Given the description of an element on the screen output the (x, y) to click on. 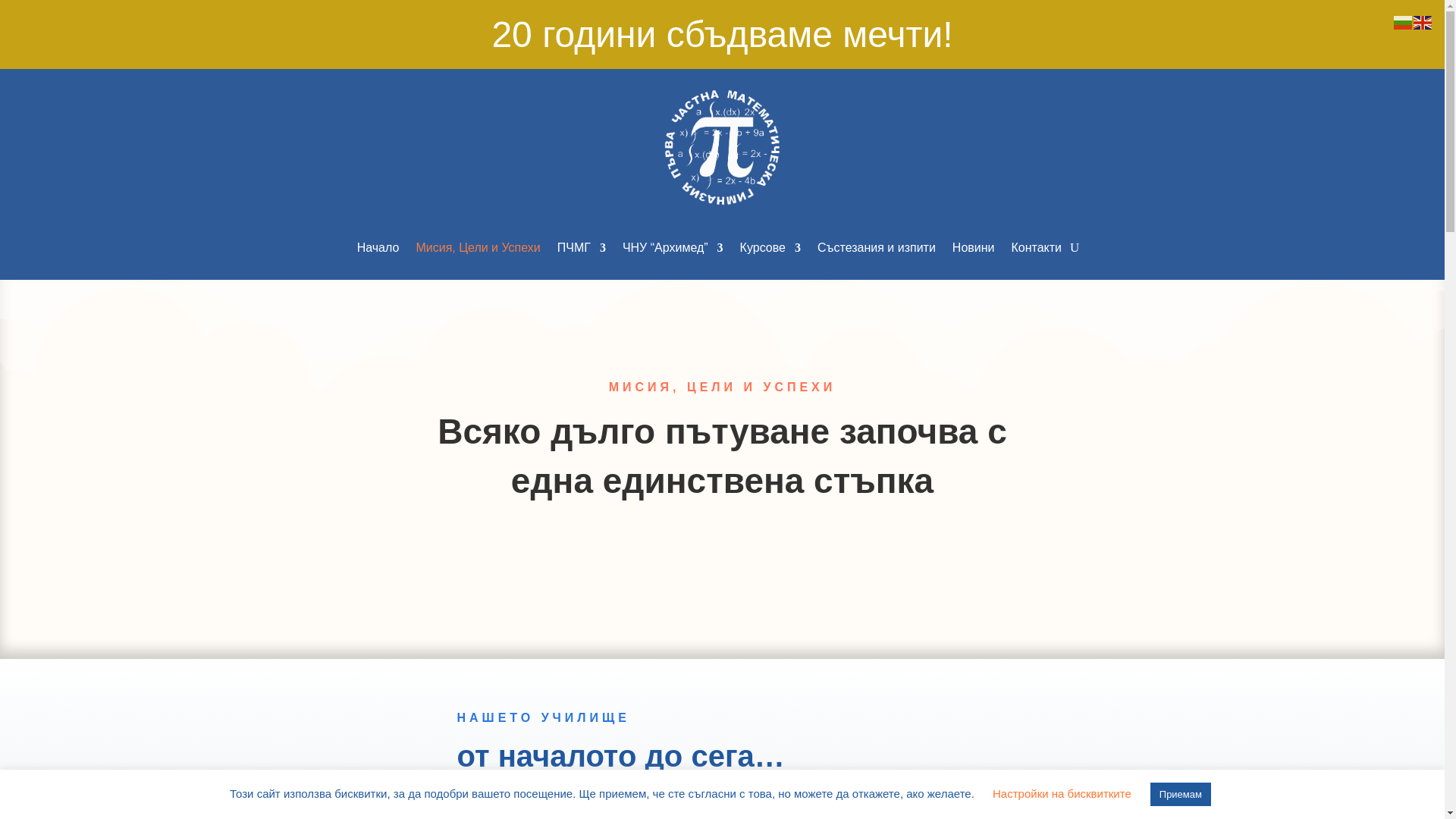
PChMG-white-logo (720, 146)
Bulgarian (1403, 21)
English (1422, 21)
